Given the description of an element on the screen output the (x, y) to click on. 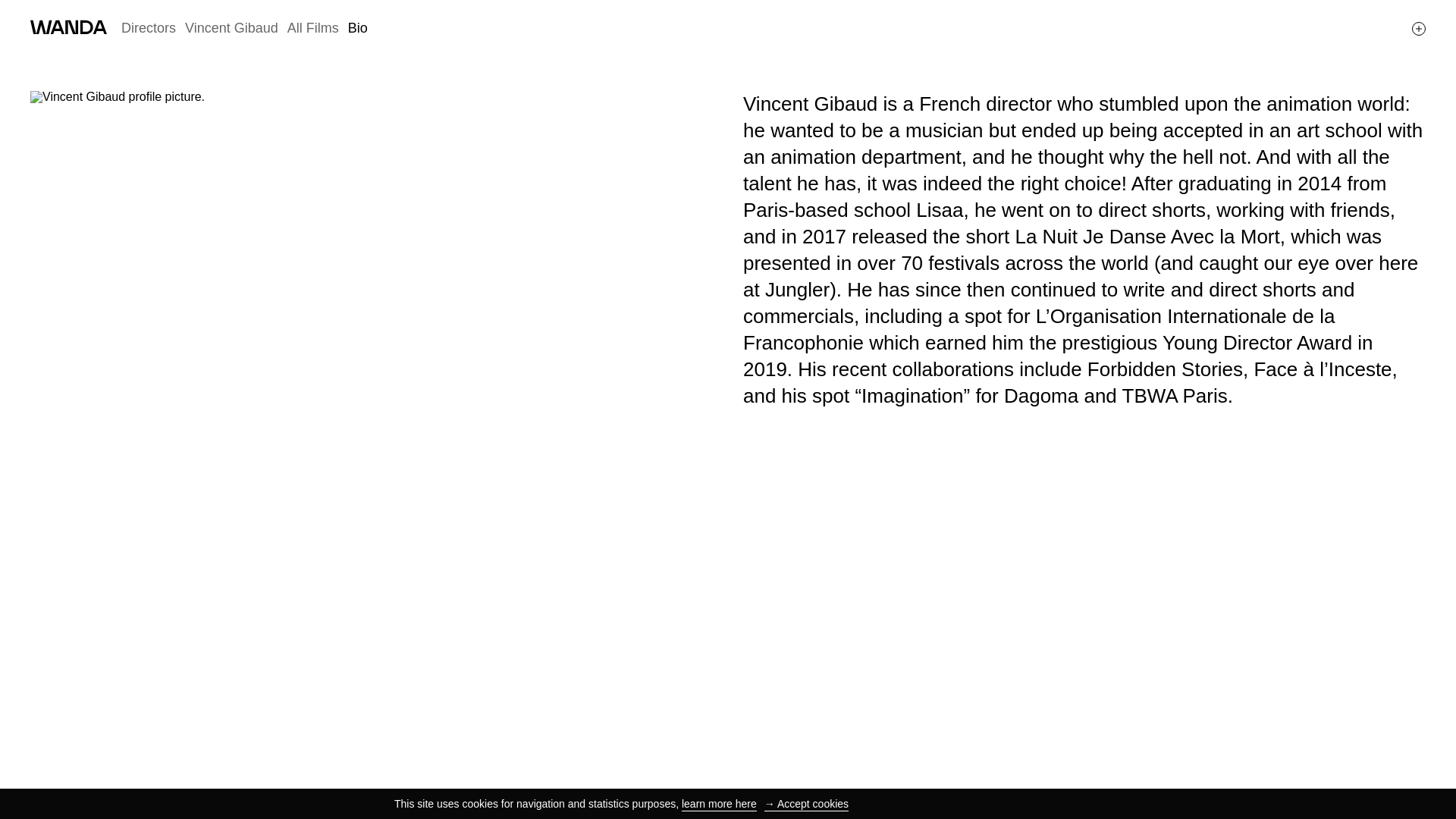
learn more here (719, 803)
Vincent Gibaud (231, 28)
Directors (148, 28)
All Films (312, 28)
